Given the description of an element on the screen output the (x, y) to click on. 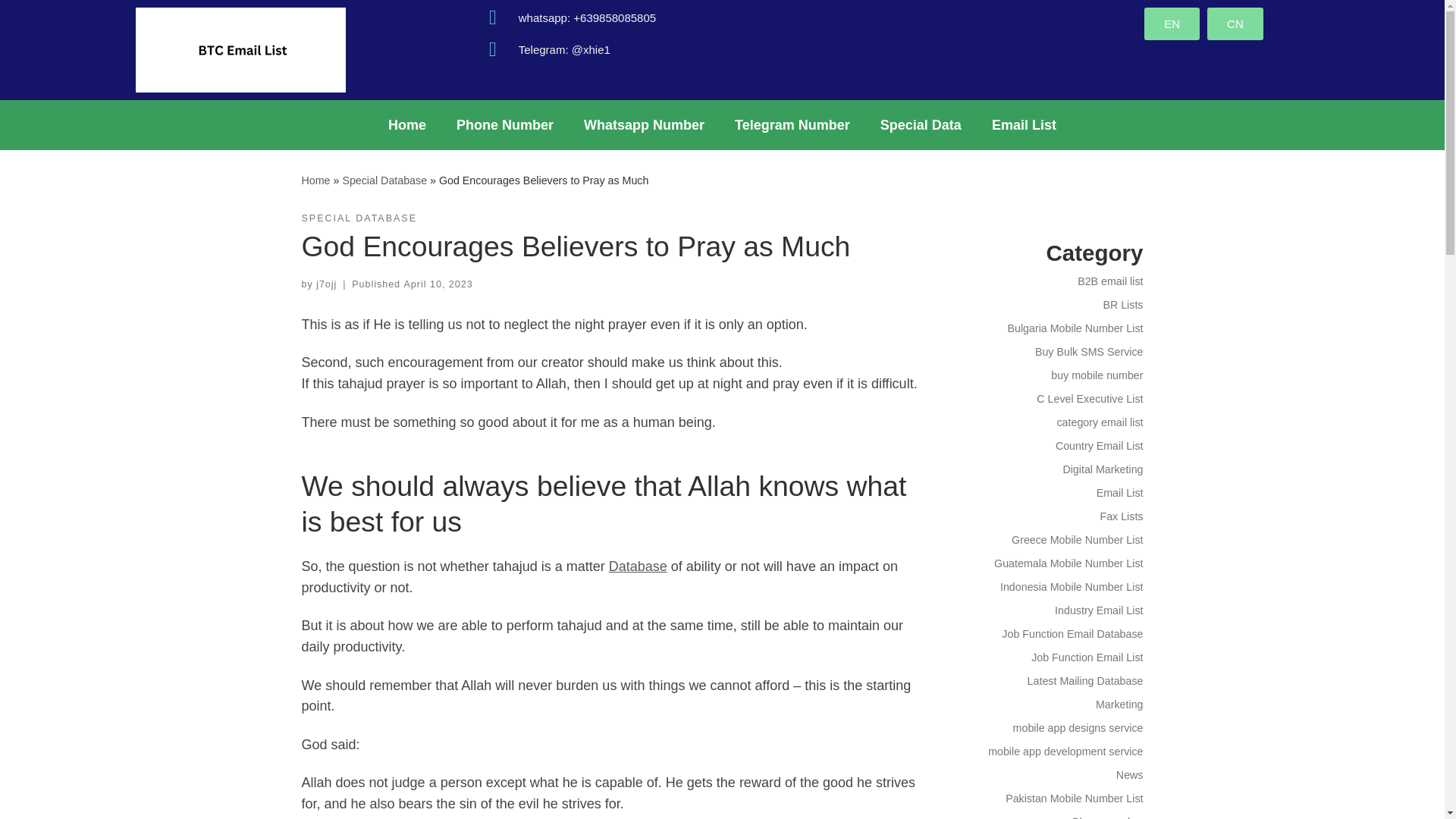
Telegram Number (791, 124)
BTC Email List (315, 180)
Database (637, 566)
Home (315, 180)
Phone Number (505, 124)
4:21 am (438, 284)
April 10, 2023 (438, 284)
Special Database (384, 180)
View all posts in Special Database (359, 218)
Special Database (384, 180)
